Given the description of an element on the screen output the (x, y) to click on. 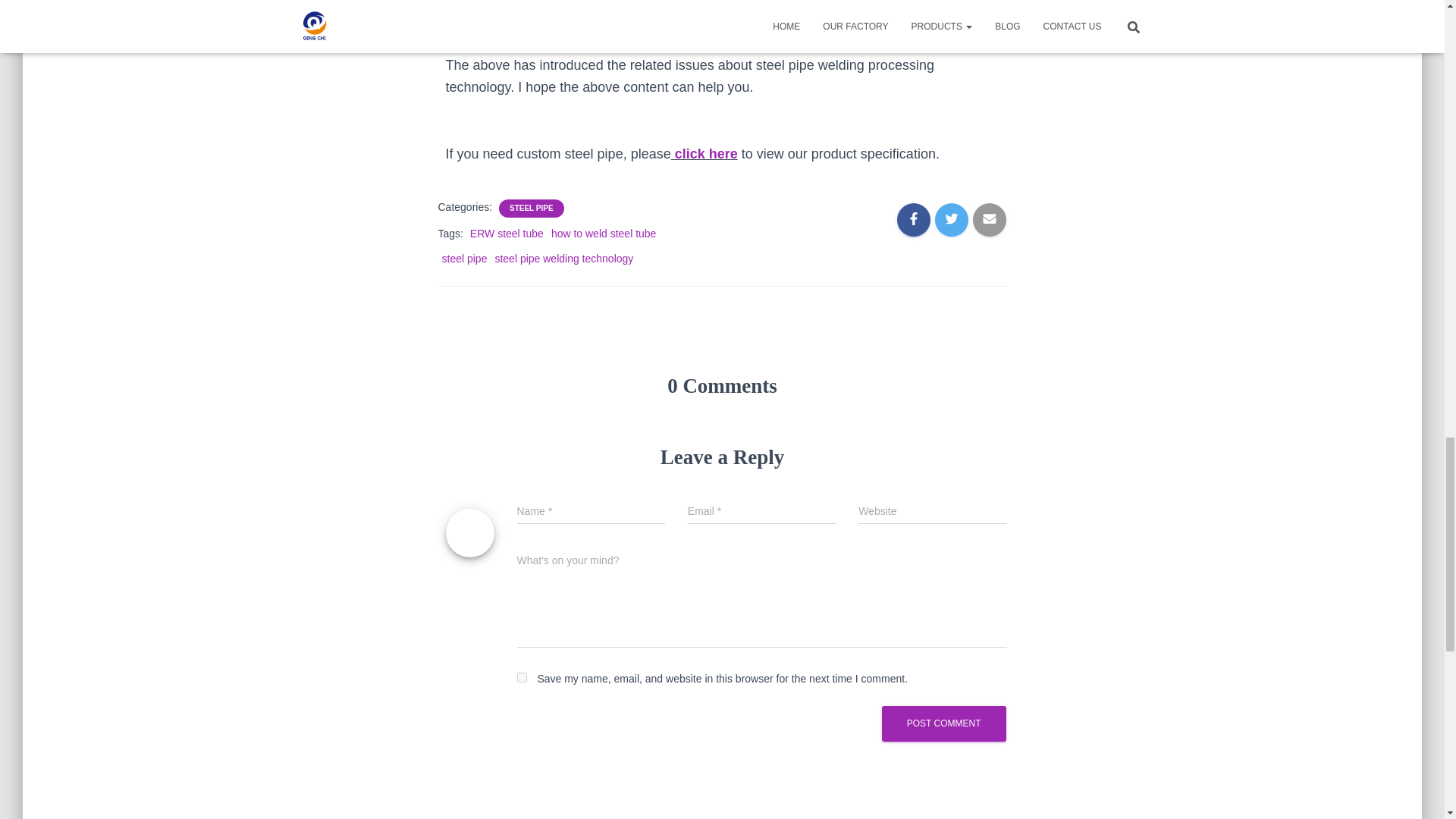
yes (521, 677)
click here (706, 153)
STEEL PIPE (531, 208)
Post Comment (944, 723)
ERW steel tube (506, 233)
steel pipe (463, 258)
steel pipe welding technology (564, 258)
how to weld steel tube (603, 233)
Post Comment (944, 723)
